Given the description of an element on the screen output the (x, y) to click on. 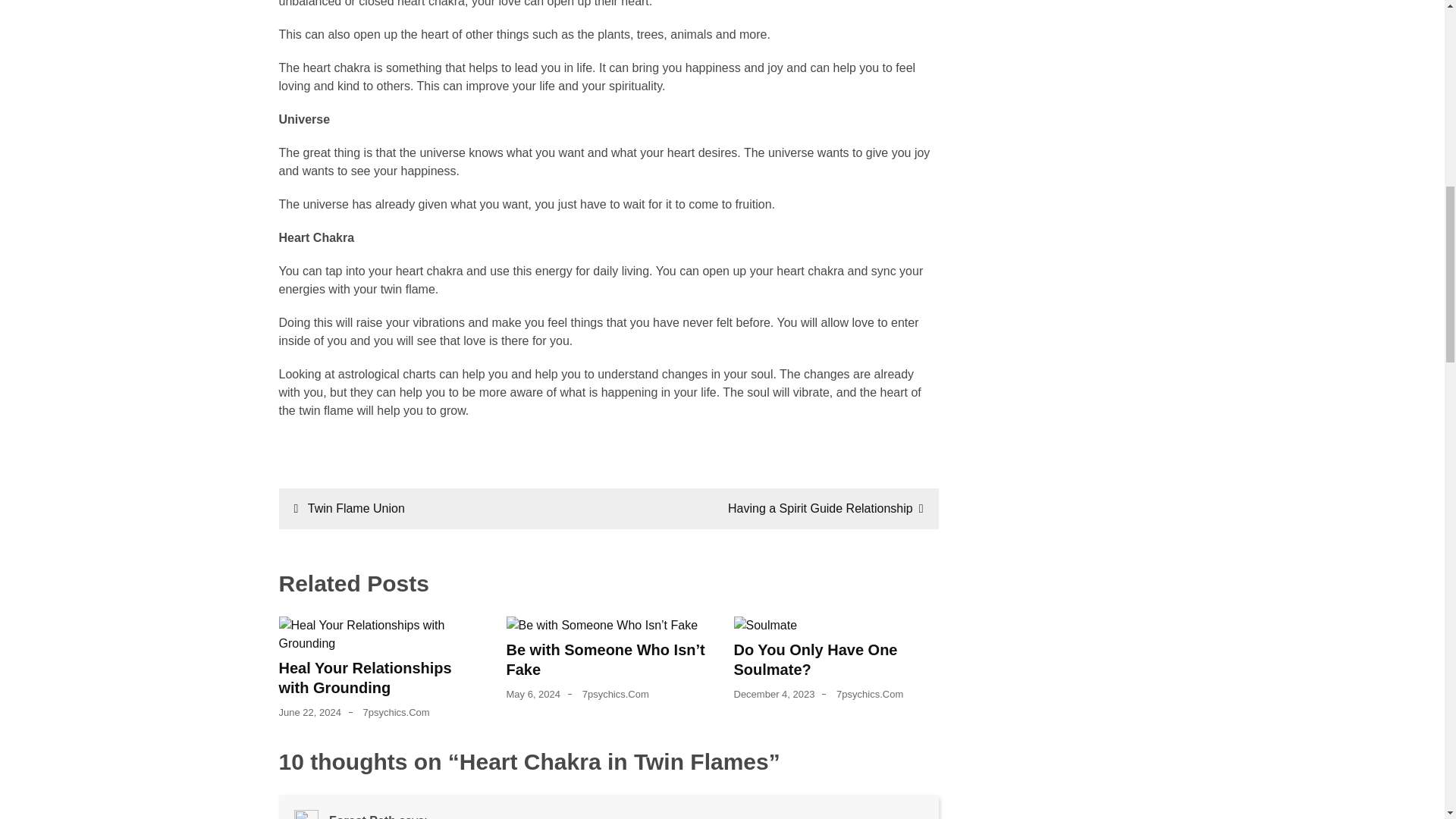
June 22, 2024 (309, 712)
Having a Spirit Guide Relationship (825, 508)
Twin Flame Union (349, 508)
May 6, 2024 (533, 694)
7psychics.Com (615, 694)
7psychics.Com (395, 712)
Do You Only Have One Soulmate? (815, 659)
December 4, 2023 (774, 694)
Heal Your Relationships with Grounding (365, 678)
